Given the description of an element on the screen output the (x, y) to click on. 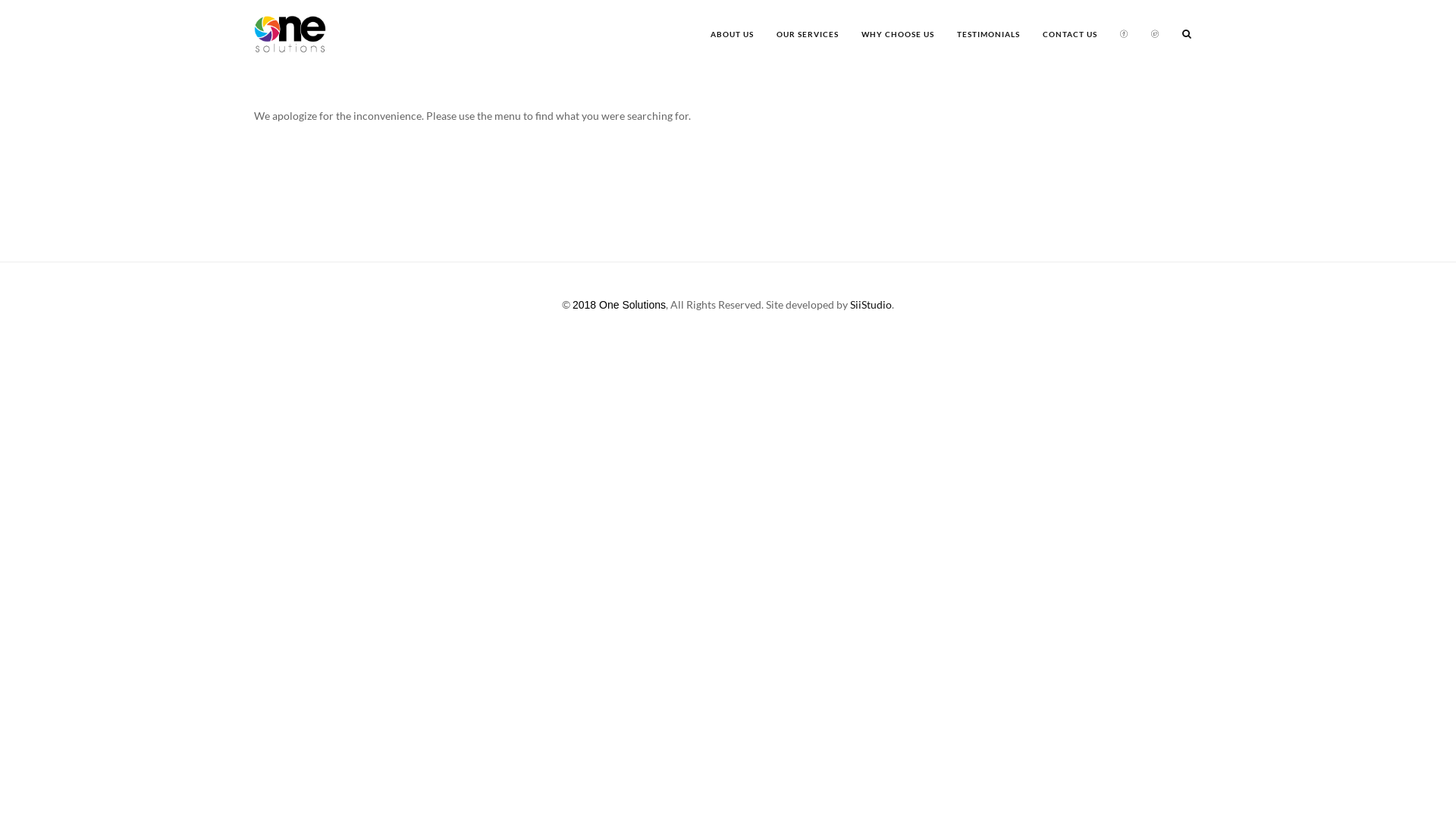
TESTIMONIALS Element type: text (988, 33)
OUR SERVICES Element type: text (807, 33)
WHY CHOOSE US Element type: text (897, 33)
CONTACT US Element type: text (1069, 33)
ABOUT US Element type: text (732, 33)
SiiStudio Element type: text (870, 304)
